Given the description of an element on the screen output the (x, y) to click on. 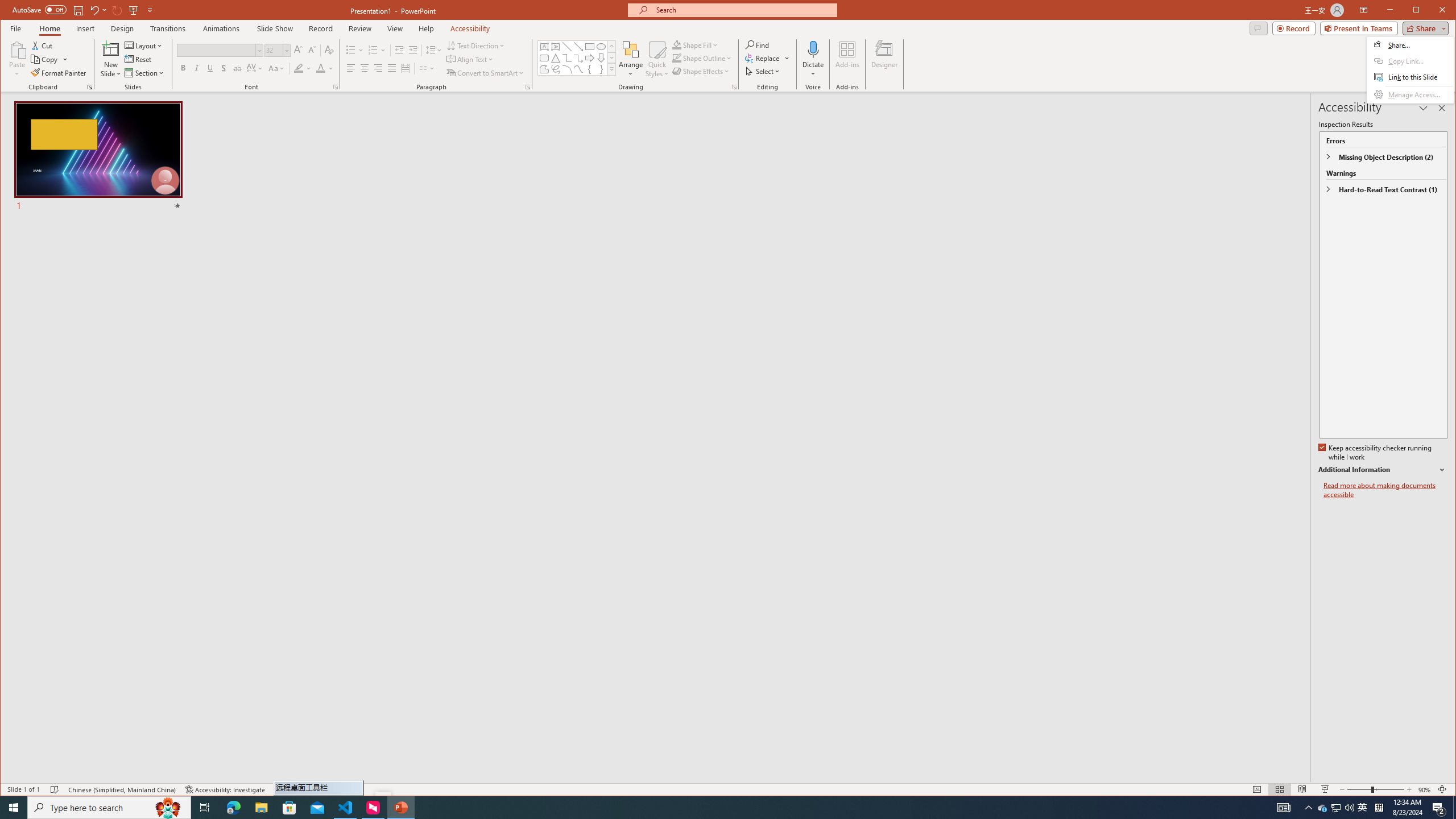
Additional Information (1382, 469)
Freeform: Shape (544, 69)
Connector: Elbow Arrow (577, 57)
Line Arrow (577, 46)
Right Brace (601, 69)
Justify (1335, 807)
Read more about making documents accessible (391, 68)
Shape Effects (1385, 489)
